Given the description of an element on the screen output the (x, y) to click on. 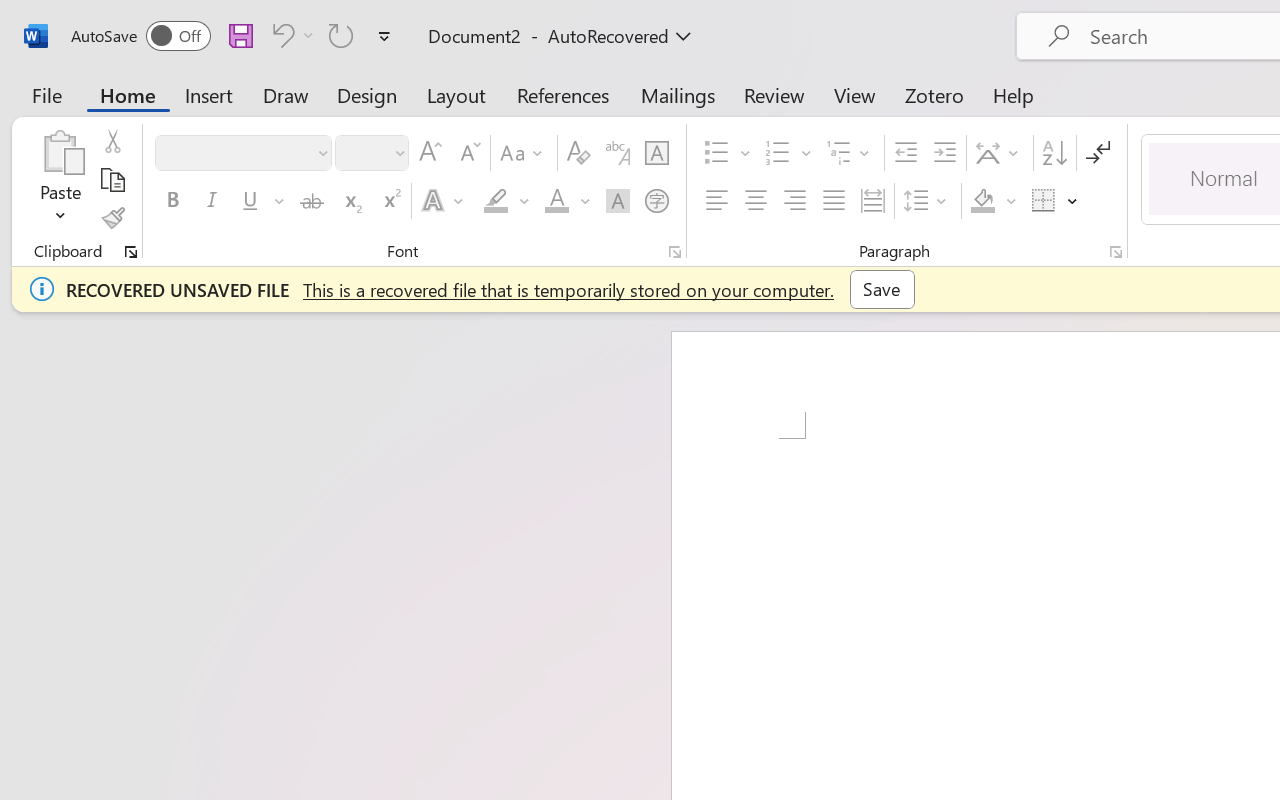
Format Painter (112, 218)
Grow Font (430, 153)
Decrease Indent (906, 153)
Cut (112, 141)
Center (756, 201)
Subscript (350, 201)
Shading (993, 201)
Help (1013, 94)
